Given the description of an element on the screen output the (x, y) to click on. 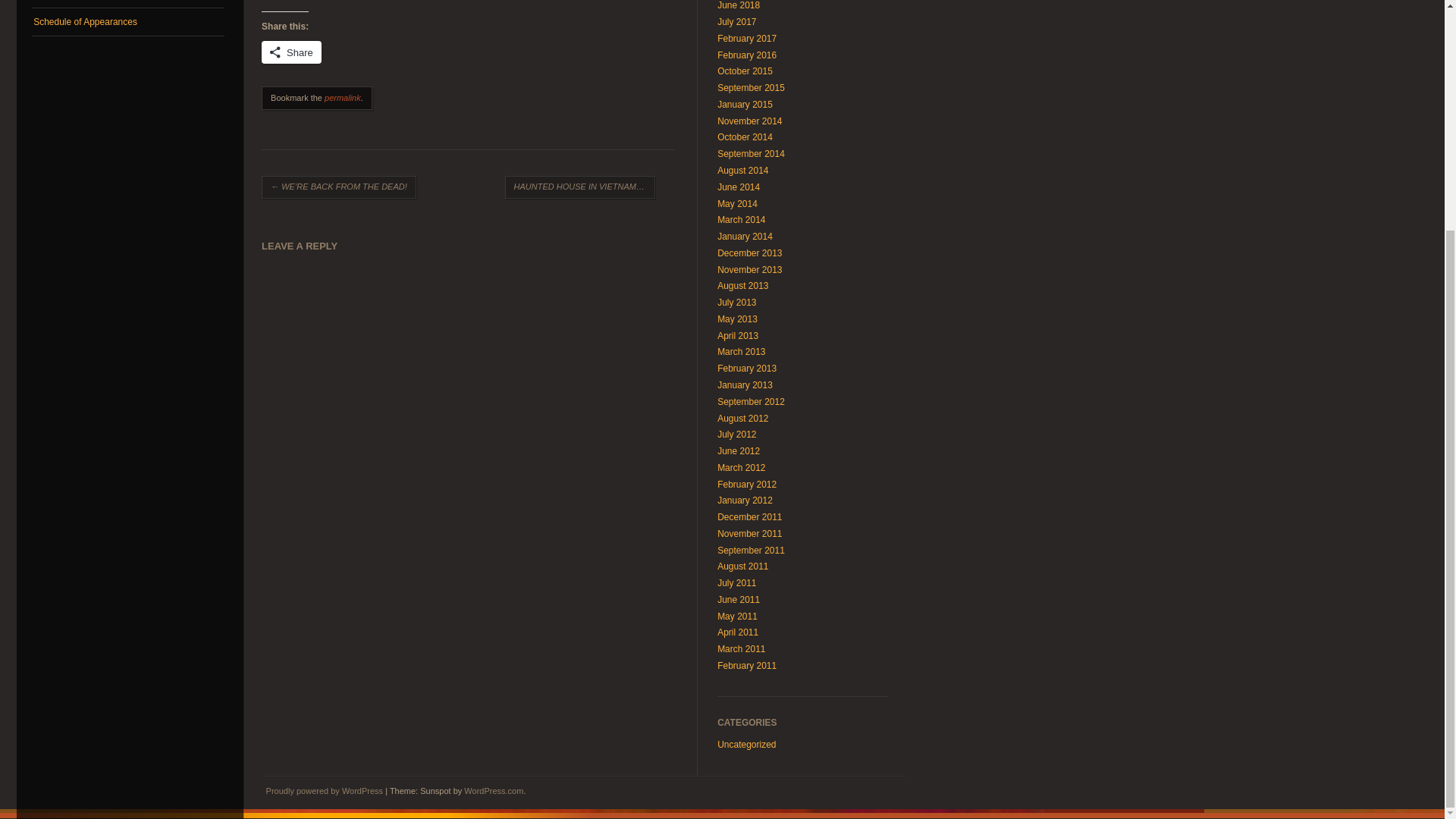
July 2017 (736, 21)
February 2016 (746, 54)
NEWS (128, 4)
Permalink to DAY OF THE DEAD CULTURAL TOUR IN PICTURES (342, 97)
November 2014 (749, 121)
September 2015 (750, 87)
permalink (342, 97)
January 2015 (745, 104)
February 2017 (746, 38)
